Given the description of an element on the screen output the (x, y) to click on. 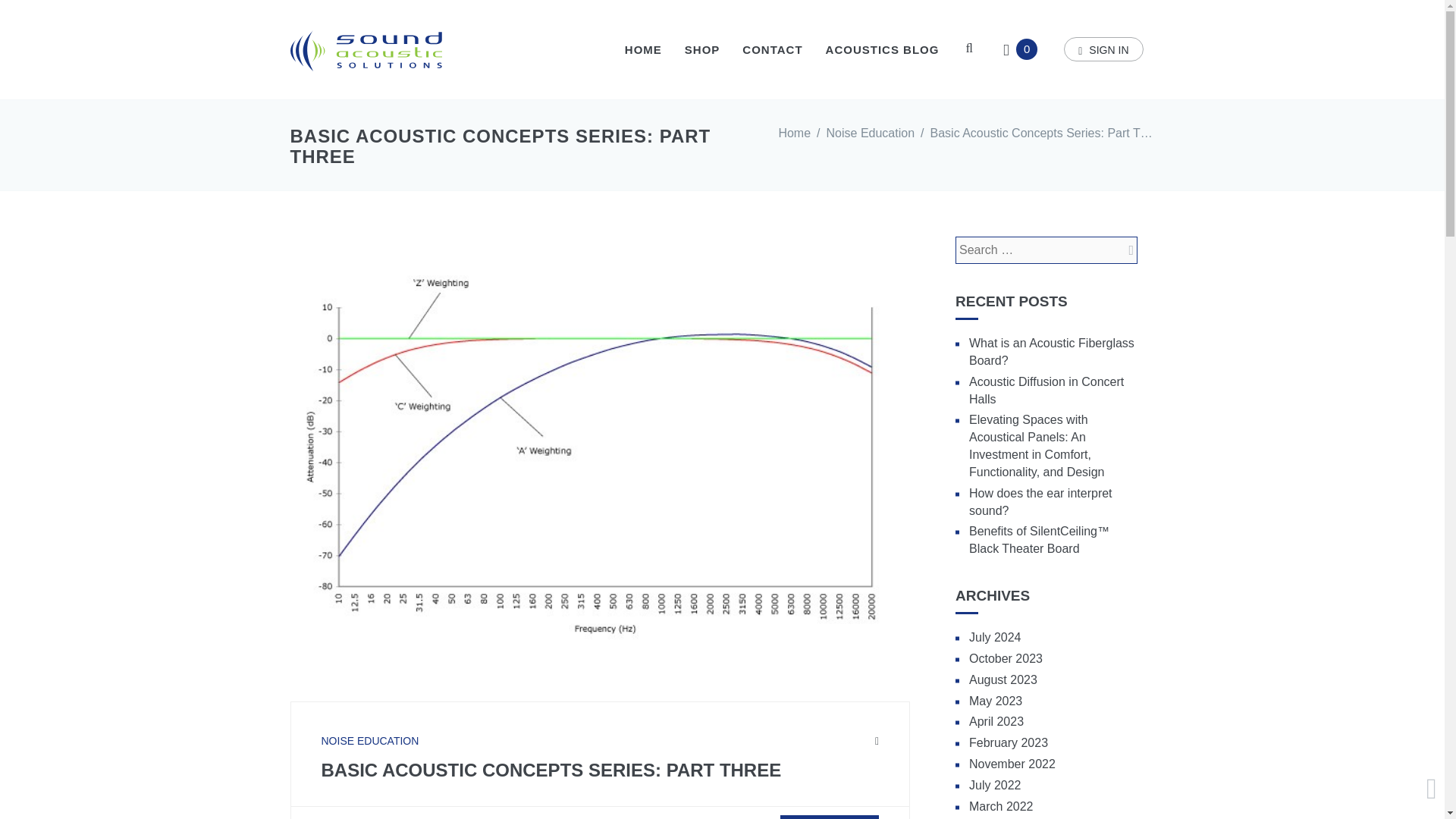
Basic Acoustic Concepts Series: Part Three (1046, 132)
Noise Education (871, 132)
AUGUST 14, 2017 (450, 818)
ACOUSTICS BLOG (881, 48)
Home (793, 132)
GPRESSLEY (361, 818)
SIGN IN (1103, 48)
Home (793, 132)
CONTACT (771, 48)
